Given the description of an element on the screen output the (x, y) to click on. 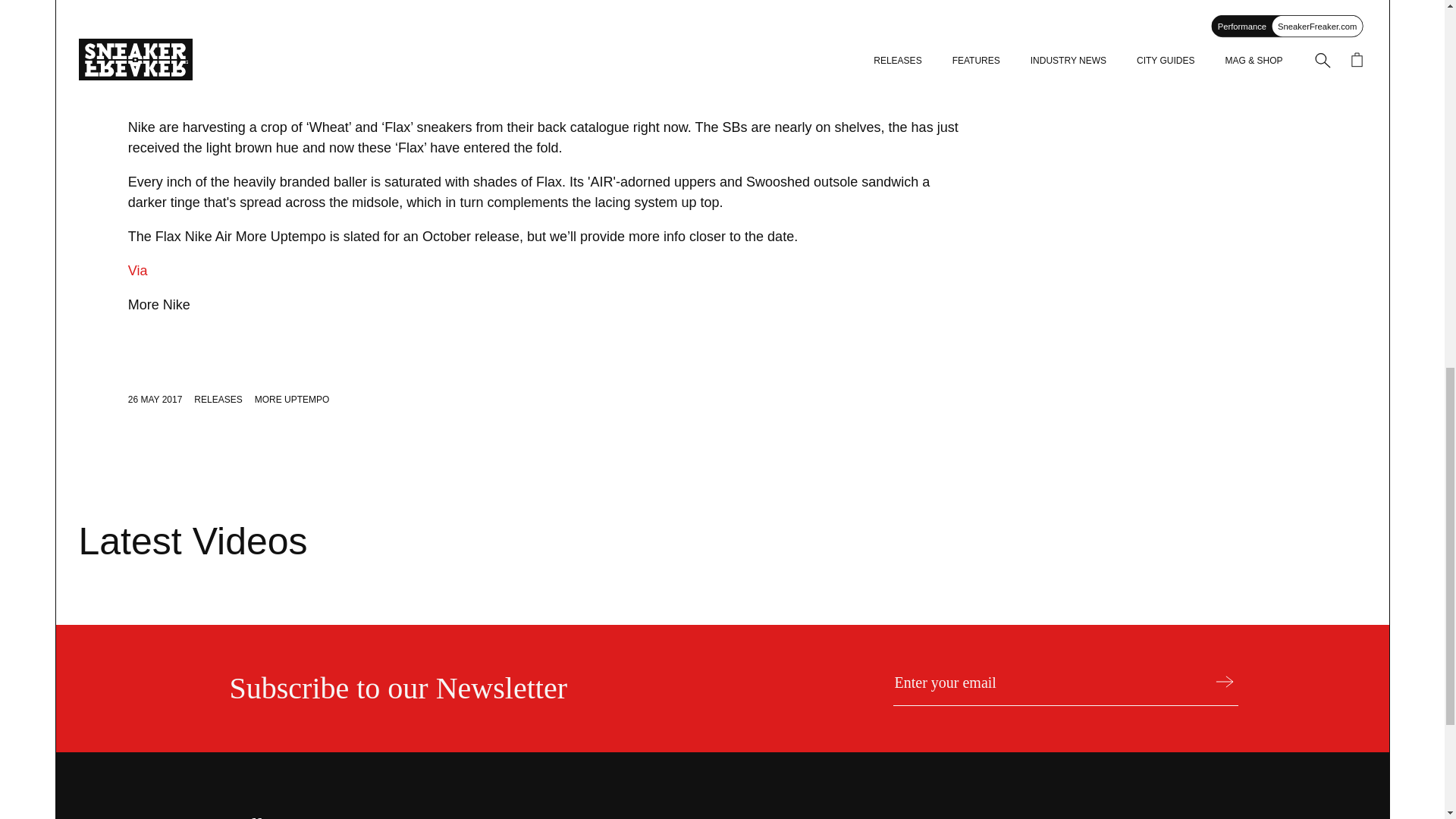
Via (138, 270)
RELEASES (217, 398)
MORE UPTEMPO (292, 398)
